Given the description of an element on the screen output the (x, y) to click on. 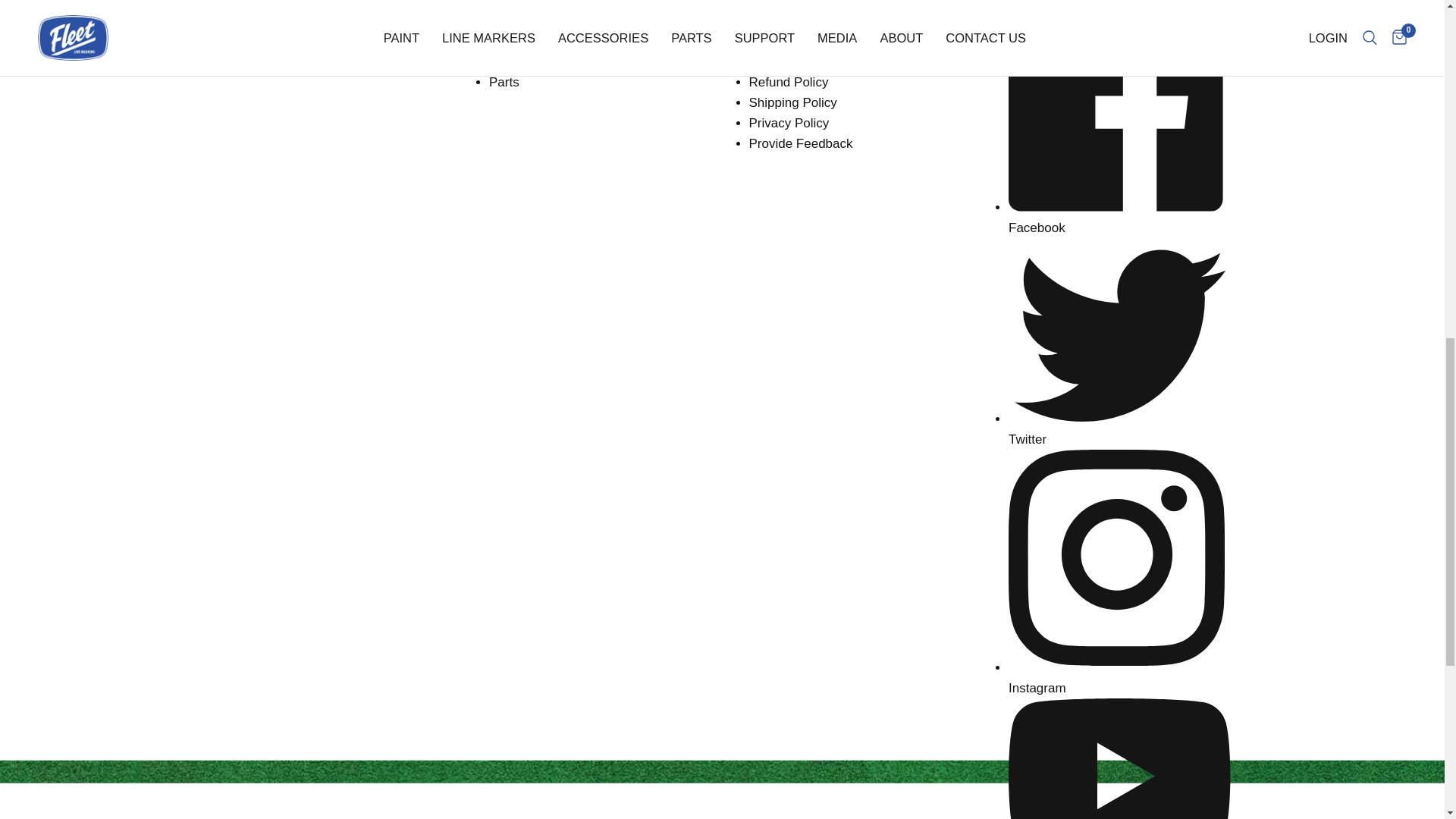
Products (499, 2)
Contact Us (780, 40)
Shipping Policy (793, 102)
Line Markers (526, 40)
Support (771, 20)
Twitter (1119, 428)
Privacy Policy (789, 123)
Facebook (1119, 217)
Terms of Service (797, 61)
Service (755, 2)
Accessories (524, 61)
Paint (503, 20)
Refund Policy (788, 82)
Parts (504, 82)
Paint (503, 20)
